Given the description of an element on the screen output the (x, y) to click on. 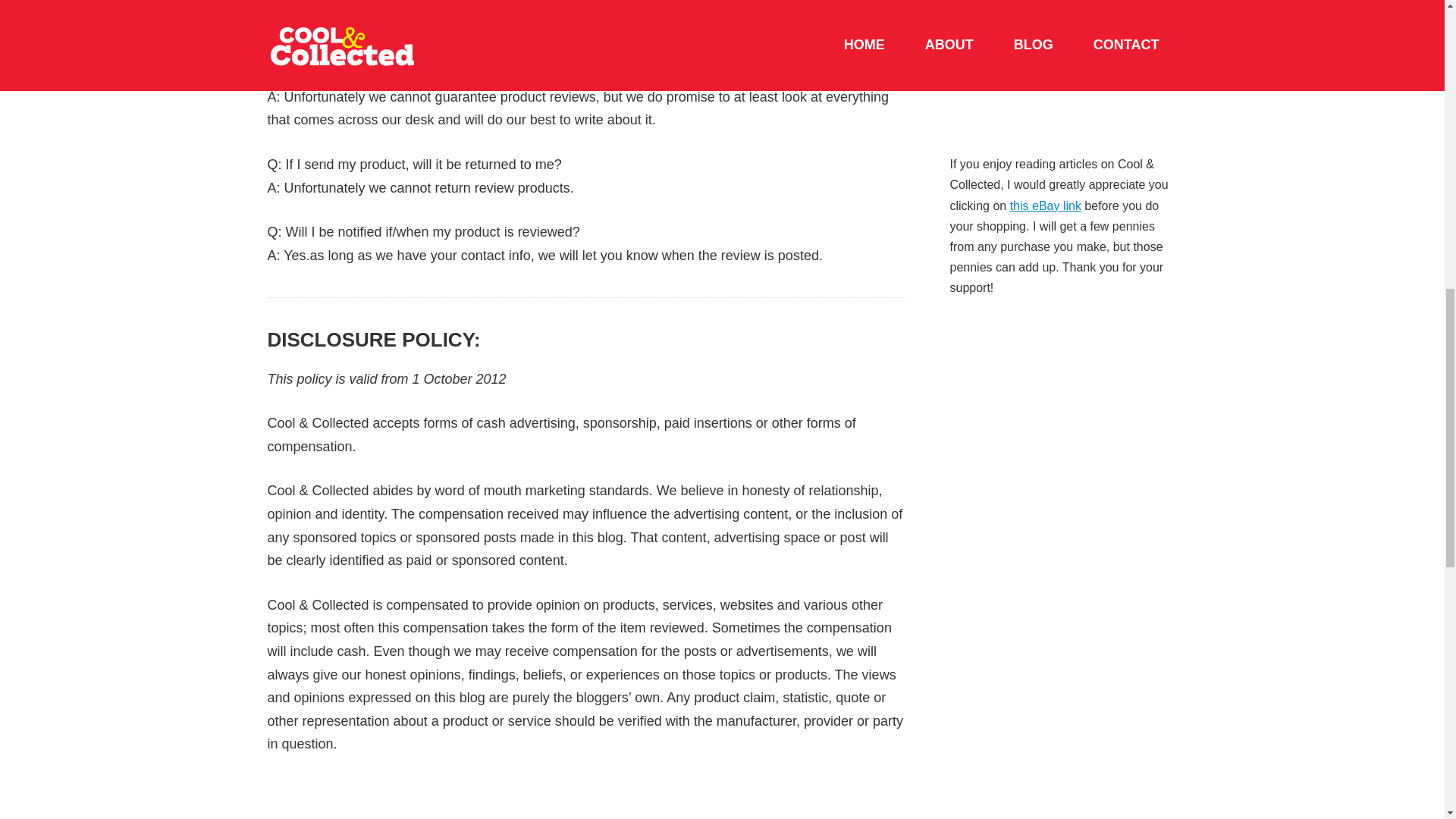
this eBay link (1045, 205)
